Given the description of an element on the screen output the (x, y) to click on. 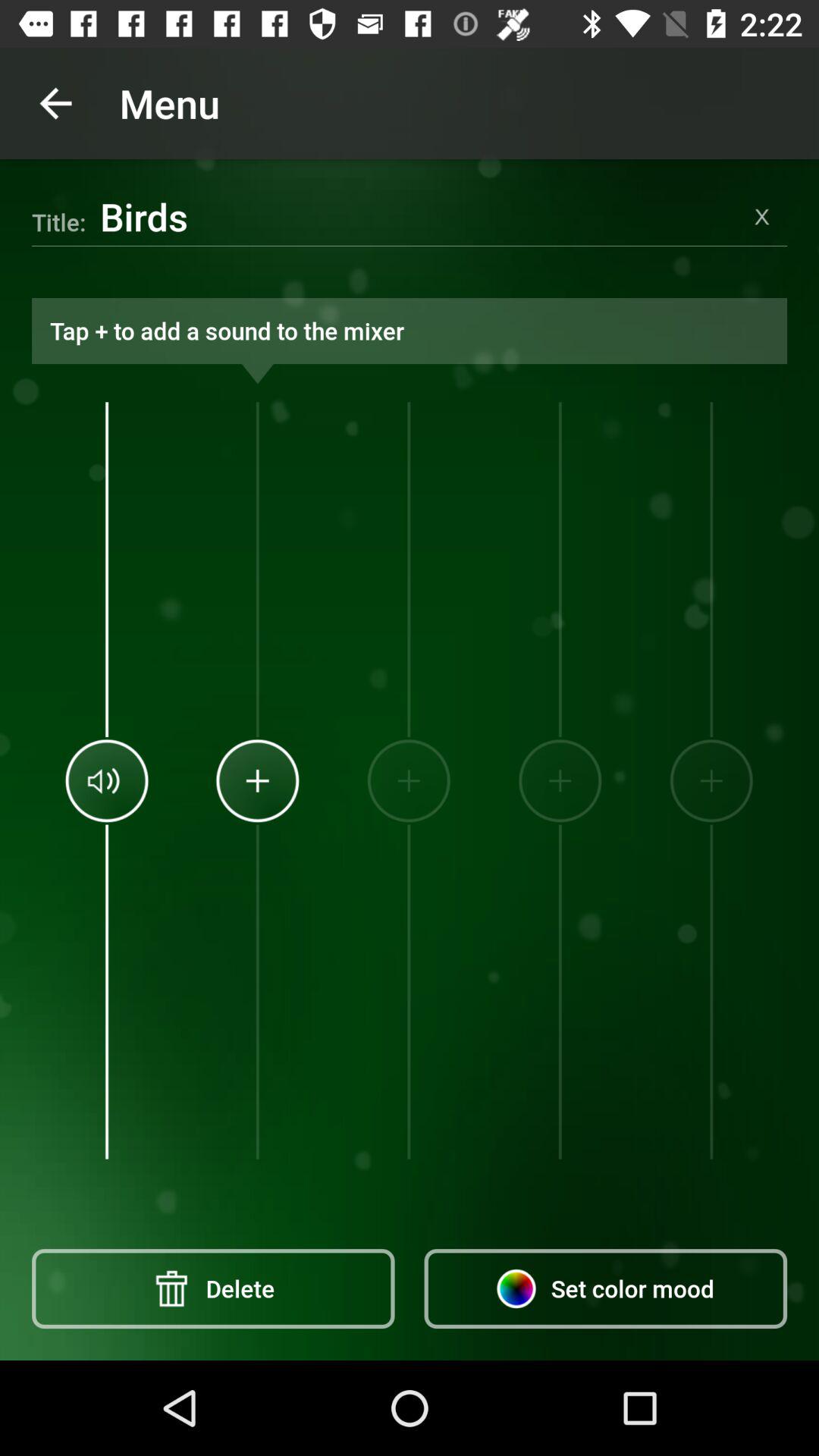
choose item to the right of title: item (418, 216)
